Given the description of an element on the screen output the (x, y) to click on. 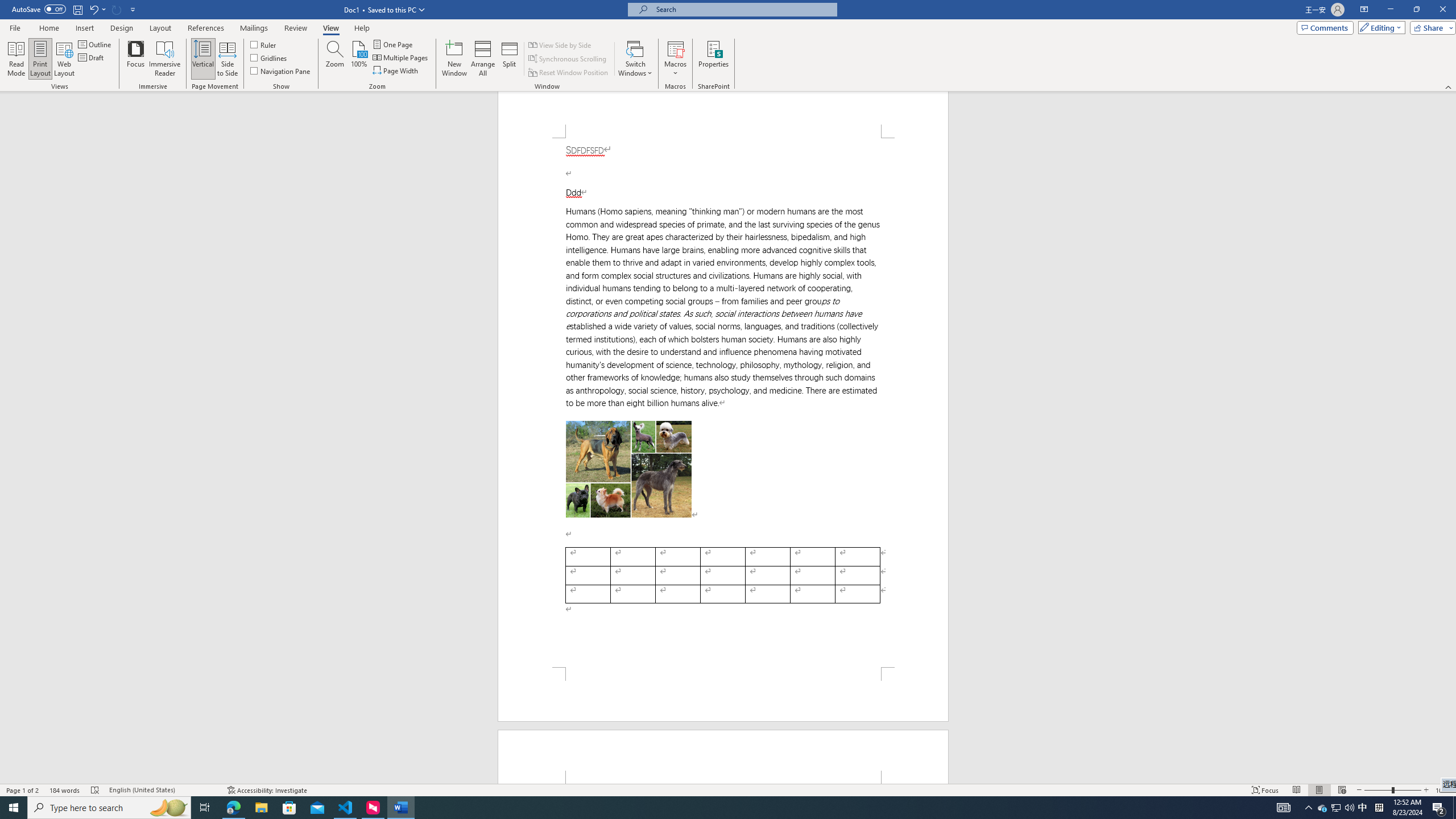
Draft (91, 56)
Morphological variation in six dogs (628, 468)
Undo Apply Quick Style Set (92, 9)
Page Width (396, 69)
Outline (95, 44)
One Page (393, 44)
Undo Apply Quick Style Set (96, 9)
